Given the description of an element on the screen output the (x, y) to click on. 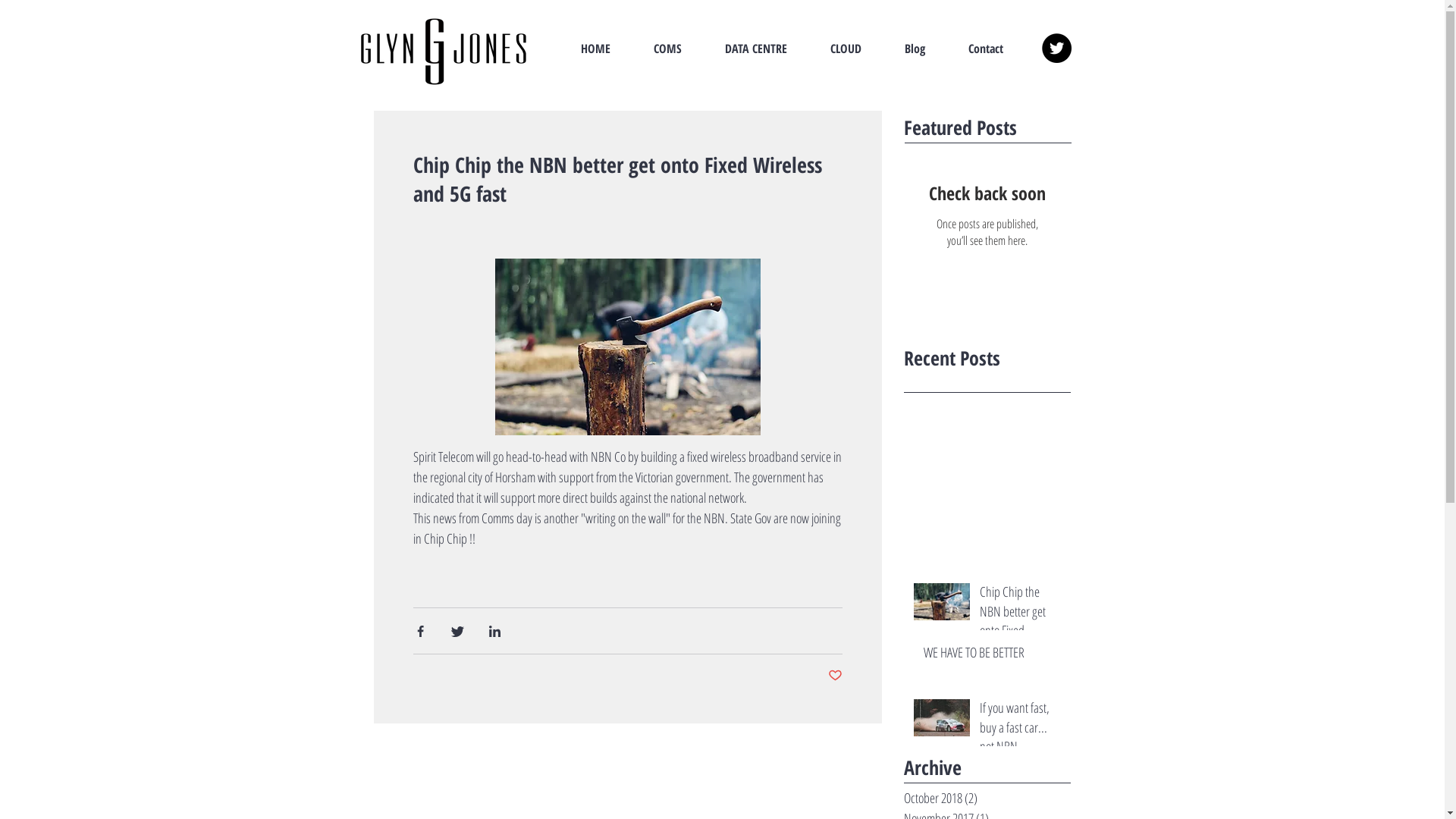
Blog Element type: text (914, 48)
WE HAVE TO BE BETTER Element type: text (992, 655)
Contact Element type: text (985, 48)
CLOUD Element type: text (845, 48)
Post not marked as liked Element type: text (835, 676)
COMS Element type: text (667, 48)
If you want fast, buy a fast car... not NBN Element type: text (1020, 730)
October 2018 (2) Element type: text (983, 797)
Chip Chip the NBN better get onto Fixed Wireless and 5G fast Element type: text (1020, 614)
DATA CENTRE Element type: text (756, 48)
HOME Element type: text (595, 48)
